Given the description of an element on the screen output the (x, y) to click on. 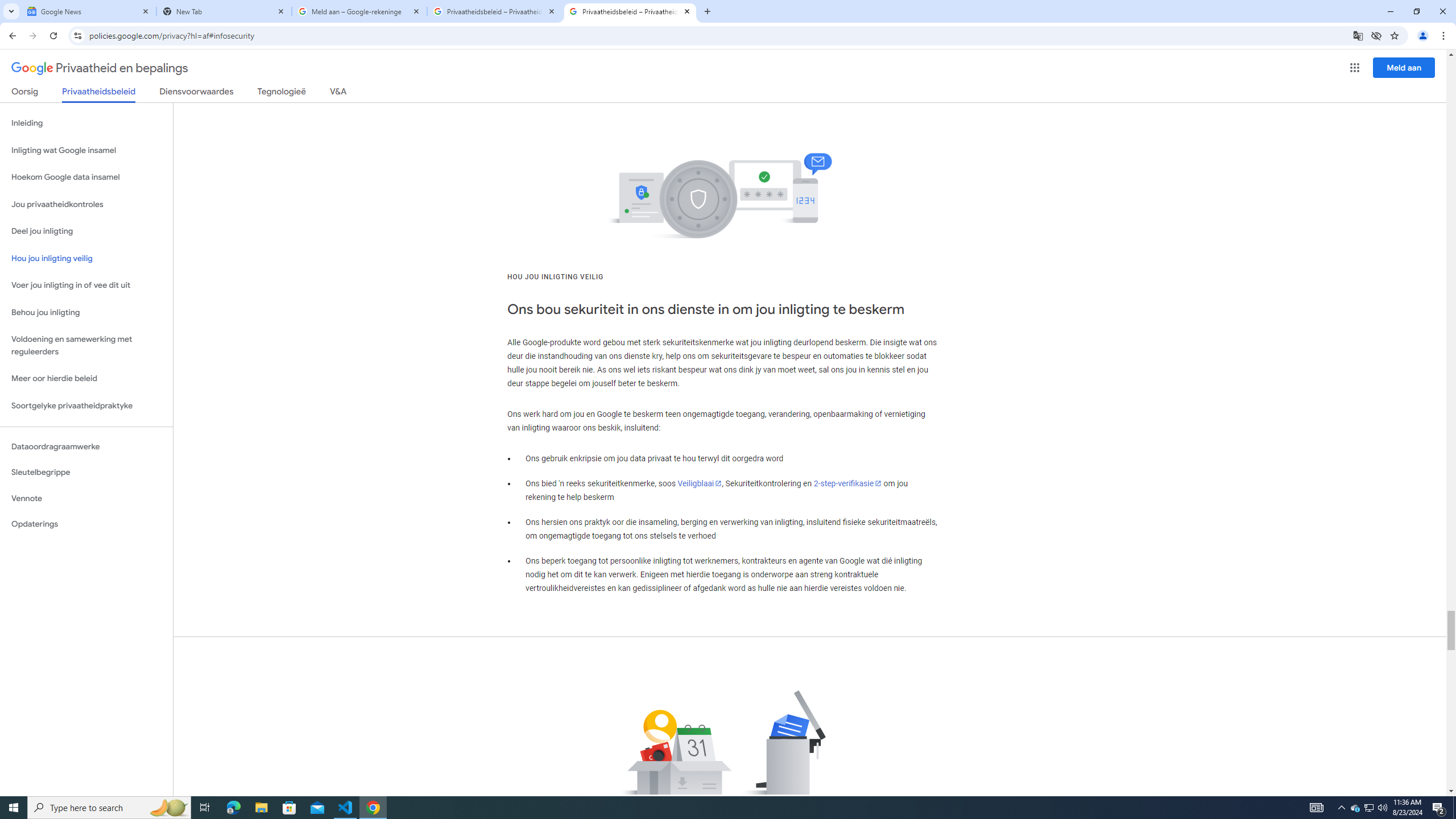
Voldoening en samewerking met reguleerders (86, 345)
Meer oor hierdie beleid (86, 379)
Soortgelyke privaatheidpraktyke (86, 405)
Voer jou inligting in of vee dit uit (86, 284)
V&A (337, 93)
Veiligblaai (699, 483)
Diensvoorwaardes (196, 93)
Hou jou inligting veilig (86, 258)
New Tab (224, 11)
Translate this page (1358, 35)
Vennote (86, 497)
